Given the description of an element on the screen output the (x, y) to click on. 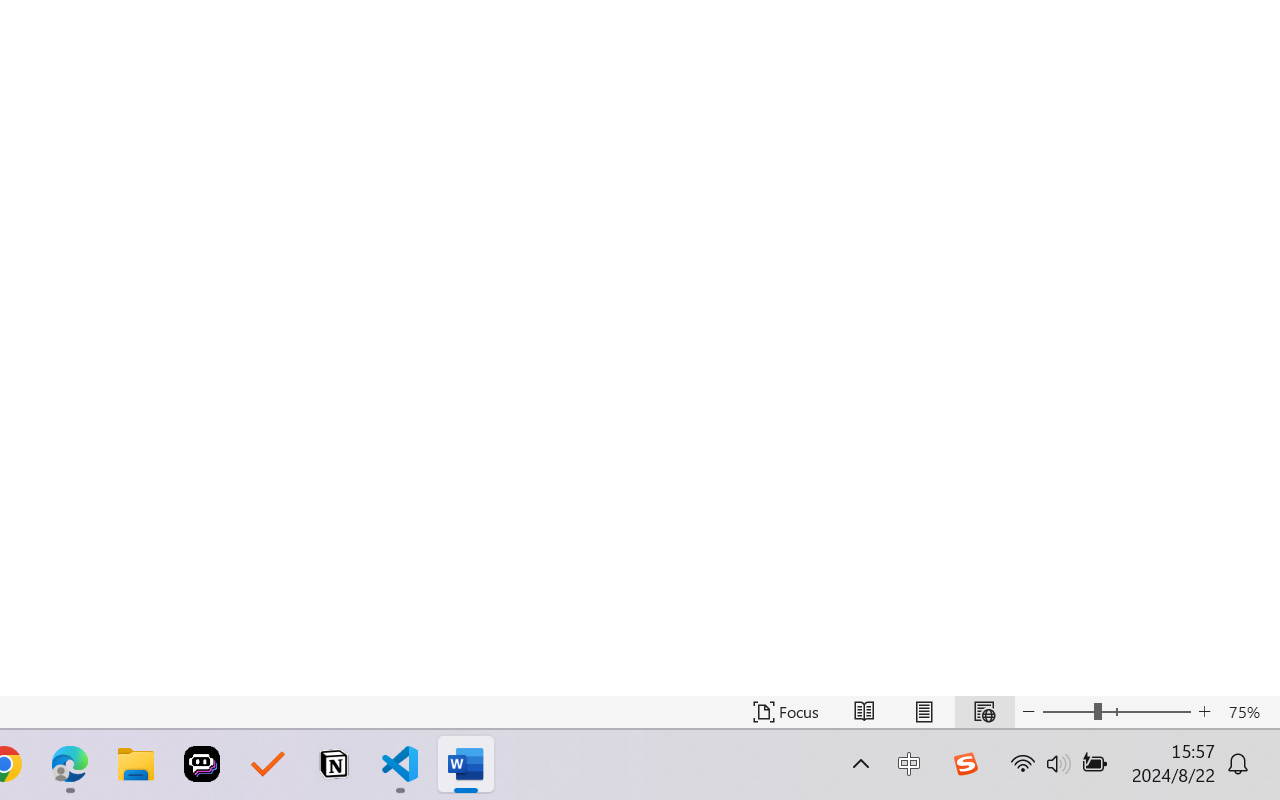
Read Mode (864, 712)
Focus  (786, 712)
Web Layout (984, 712)
Print Layout (924, 712)
Zoom 75% (1249, 712)
Class: Image (965, 764)
Zoom Out (1067, 712)
Zoom (1116, 712)
Zoom In (1204, 712)
